Given the description of an element on the screen output the (x, y) to click on. 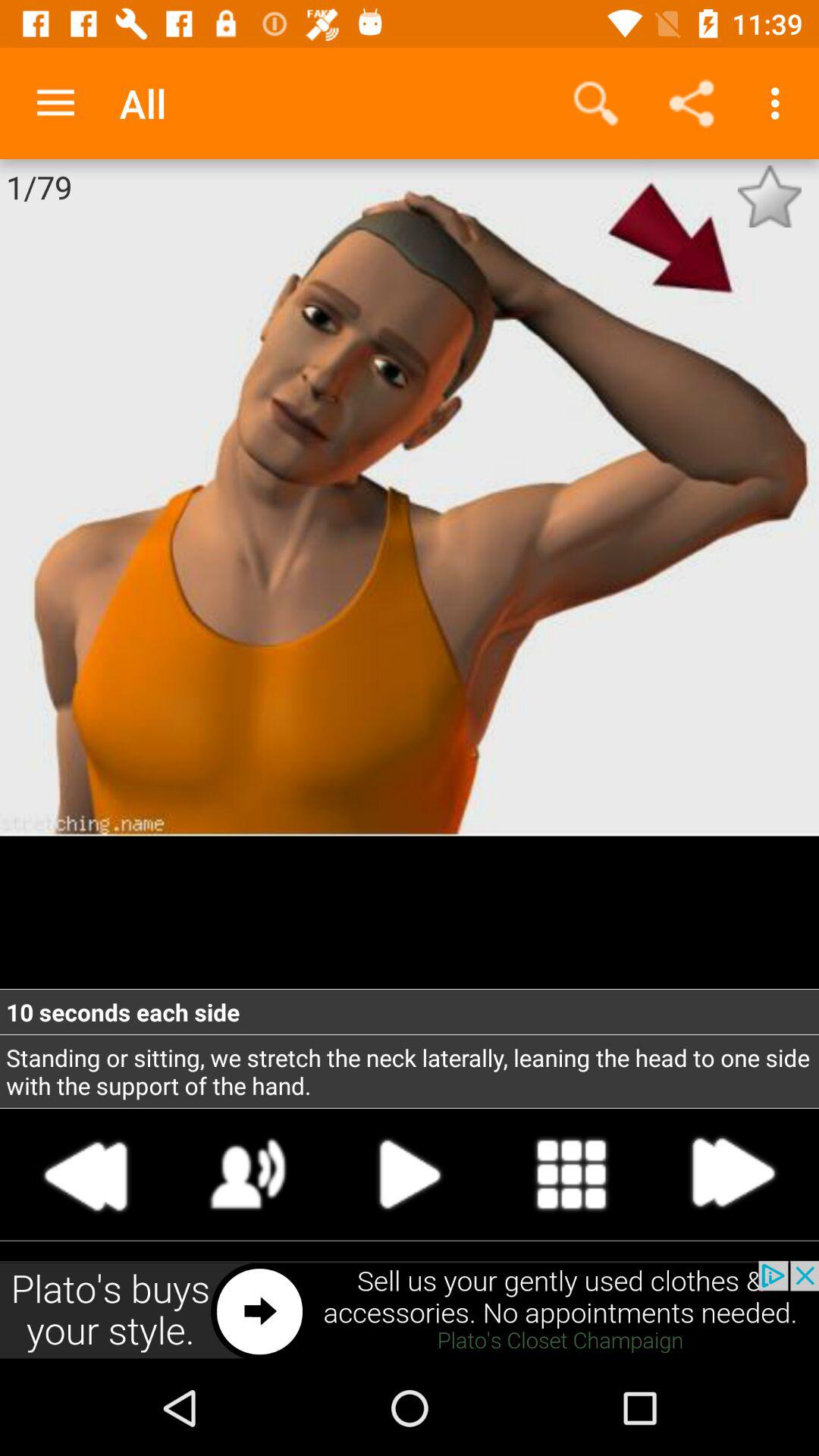
save (769, 196)
